Given the description of an element on the screen output the (x, y) to click on. 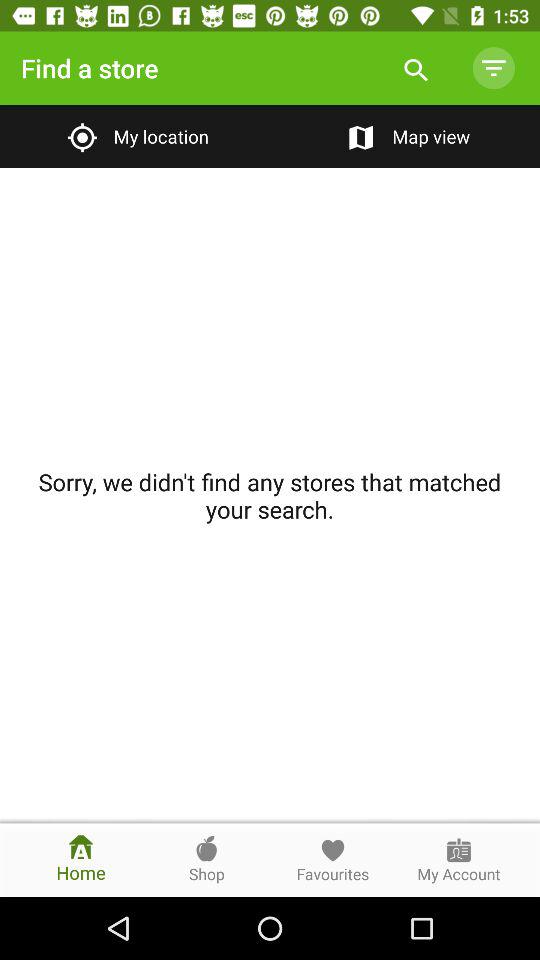
flip until my location item (134, 136)
